Given the description of an element on the screen output the (x, y) to click on. 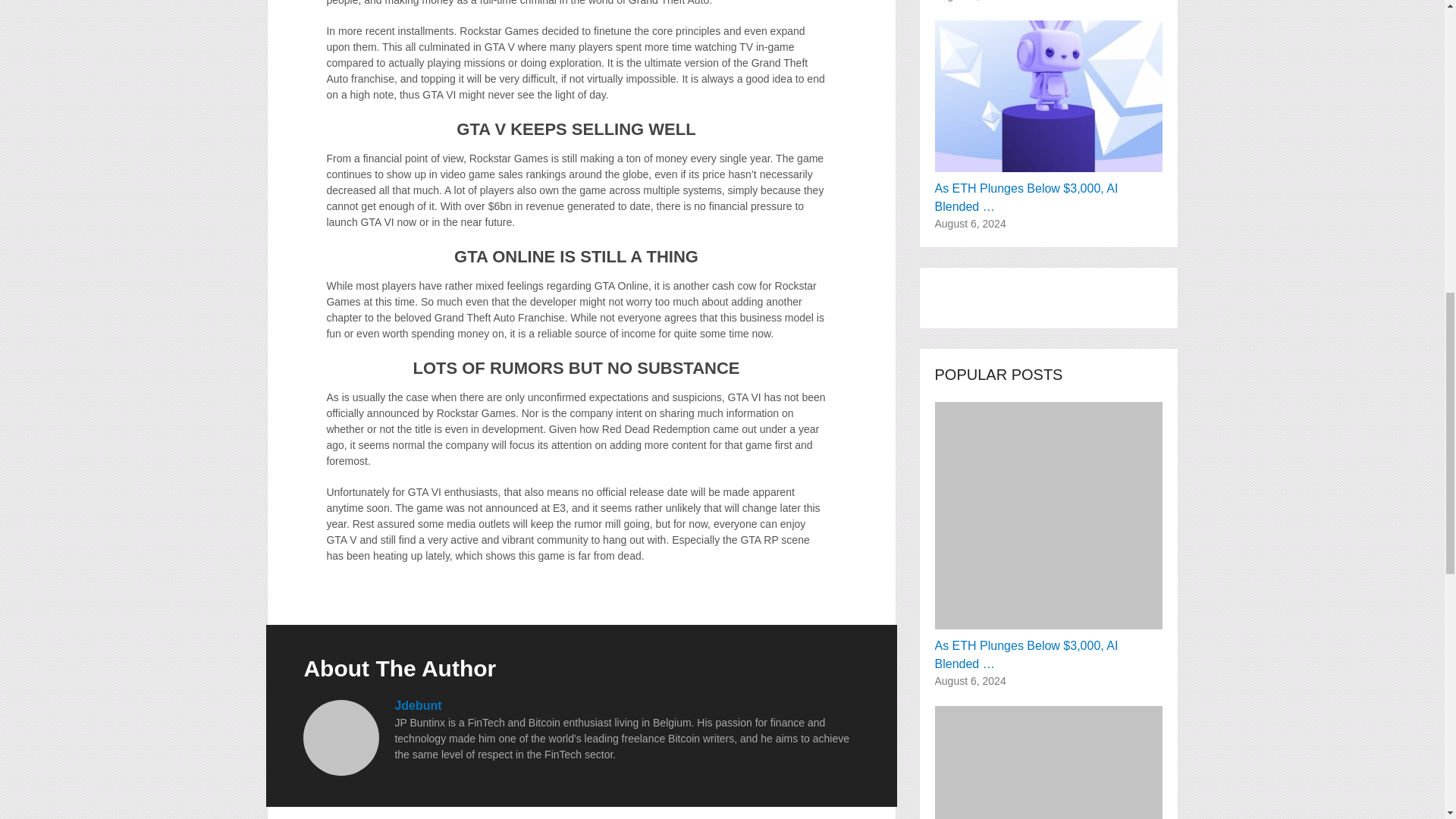
Jdebunt (417, 705)
